Given the description of an element on the screen output the (x, y) to click on. 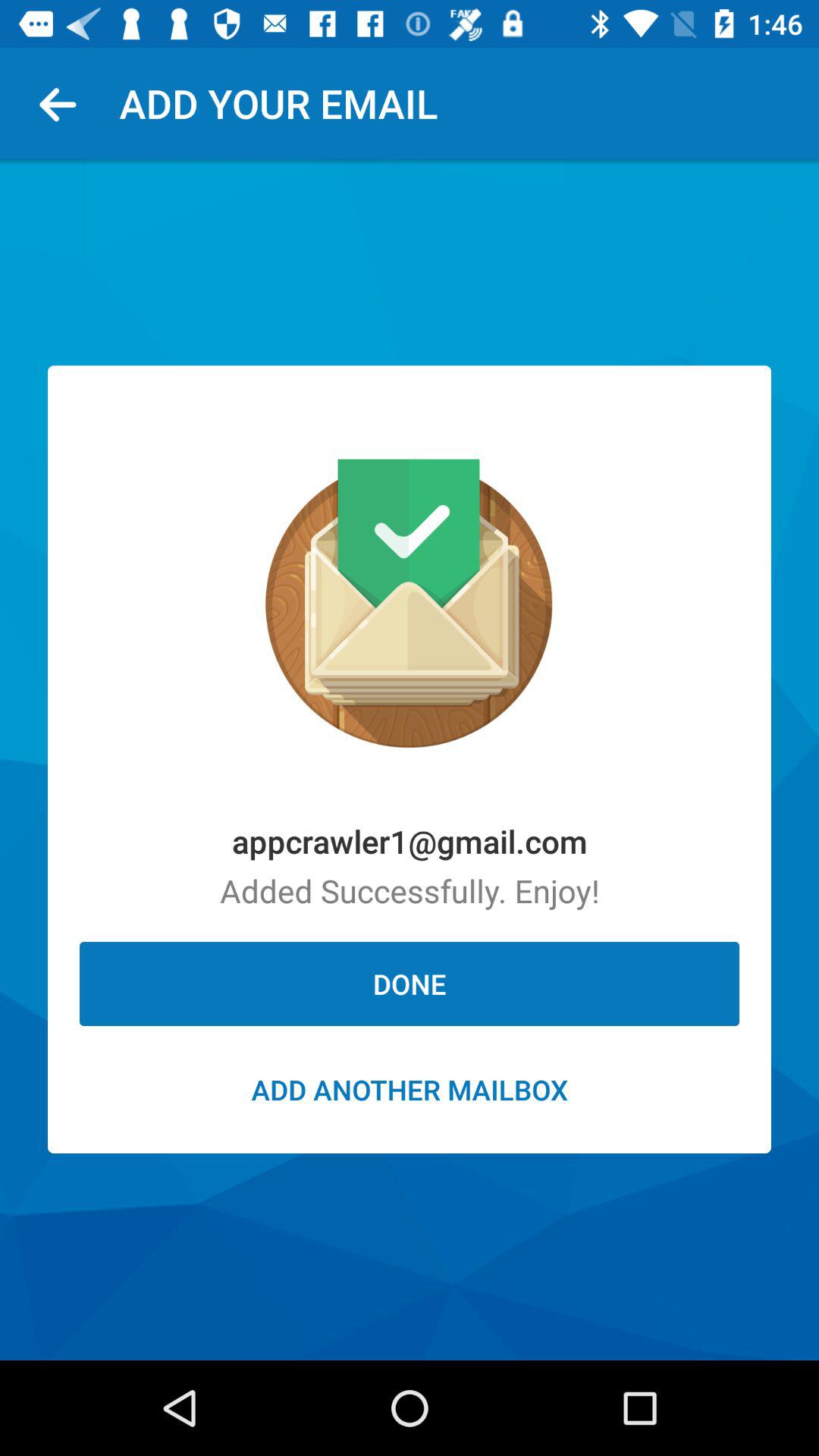
open icon below added successfully. enjoy! icon (409, 983)
